Given the description of an element on the screen output the (x, y) to click on. 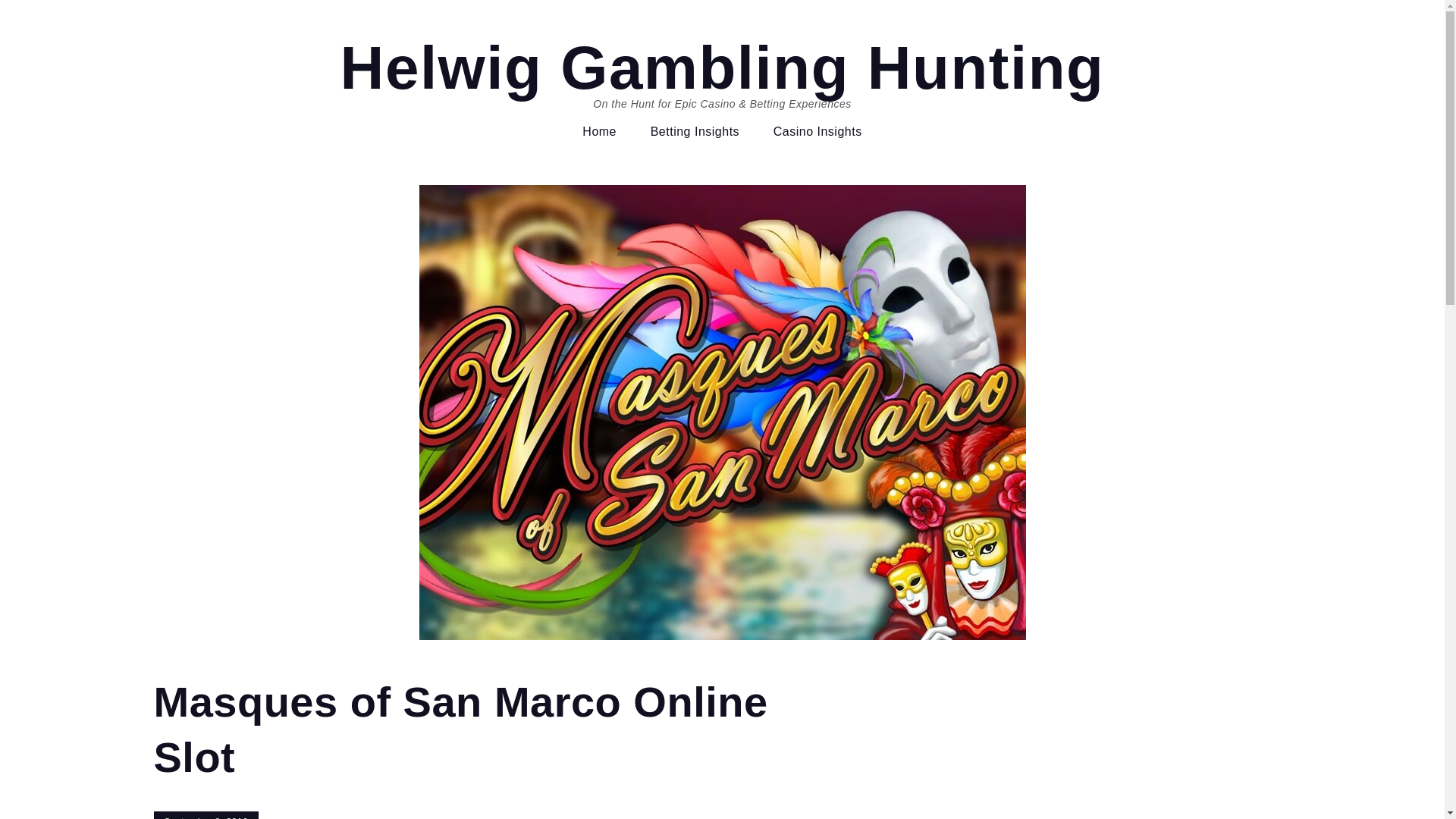
Betting Insights (694, 131)
Casino Insights (817, 131)
September 8, 2016 (205, 815)
Helwig Gambling Hunting (722, 67)
Home (599, 131)
